Given the description of an element on the screen output the (x, y) to click on. 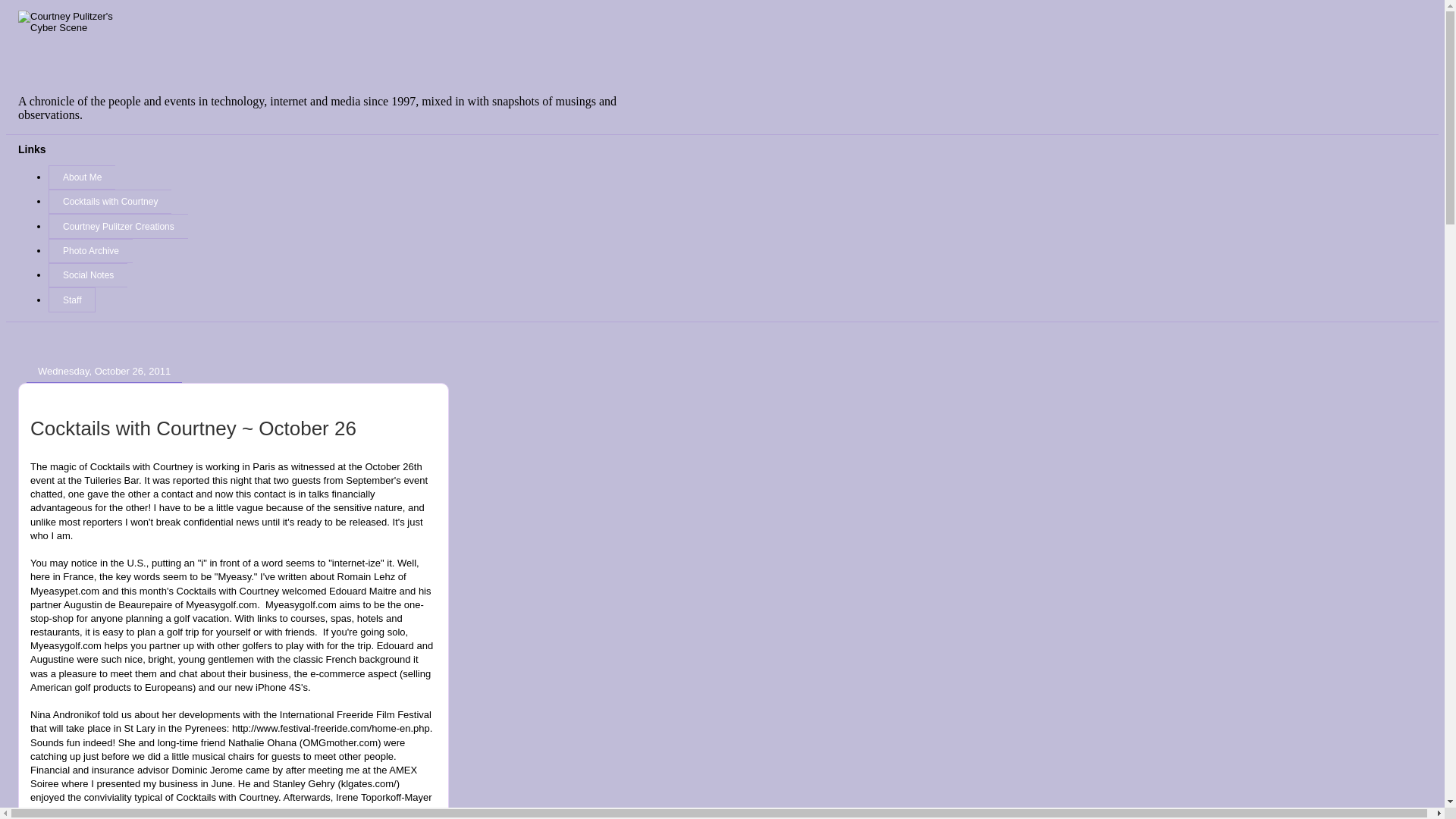
About Me (81, 177)
Photo Archive (90, 250)
Cocktails with Courtney (109, 201)
Social Notes (88, 274)
Courtney Pulitzer Creations (117, 225)
Staff (72, 299)
